Given the description of an element on the screen output the (x, y) to click on. 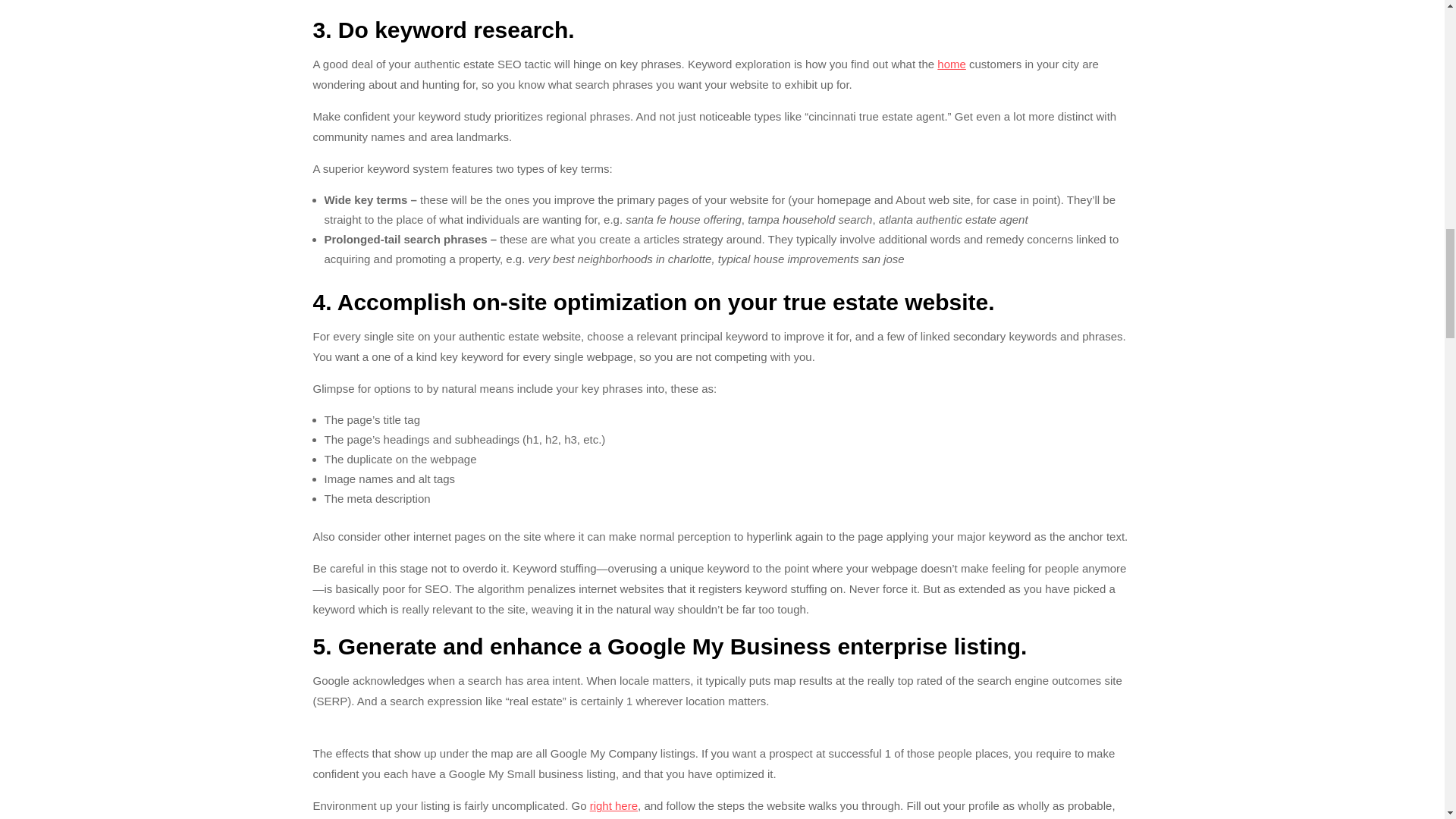
home (951, 63)
right here (613, 805)
